Given the description of an element on the screen output the (x, y) to click on. 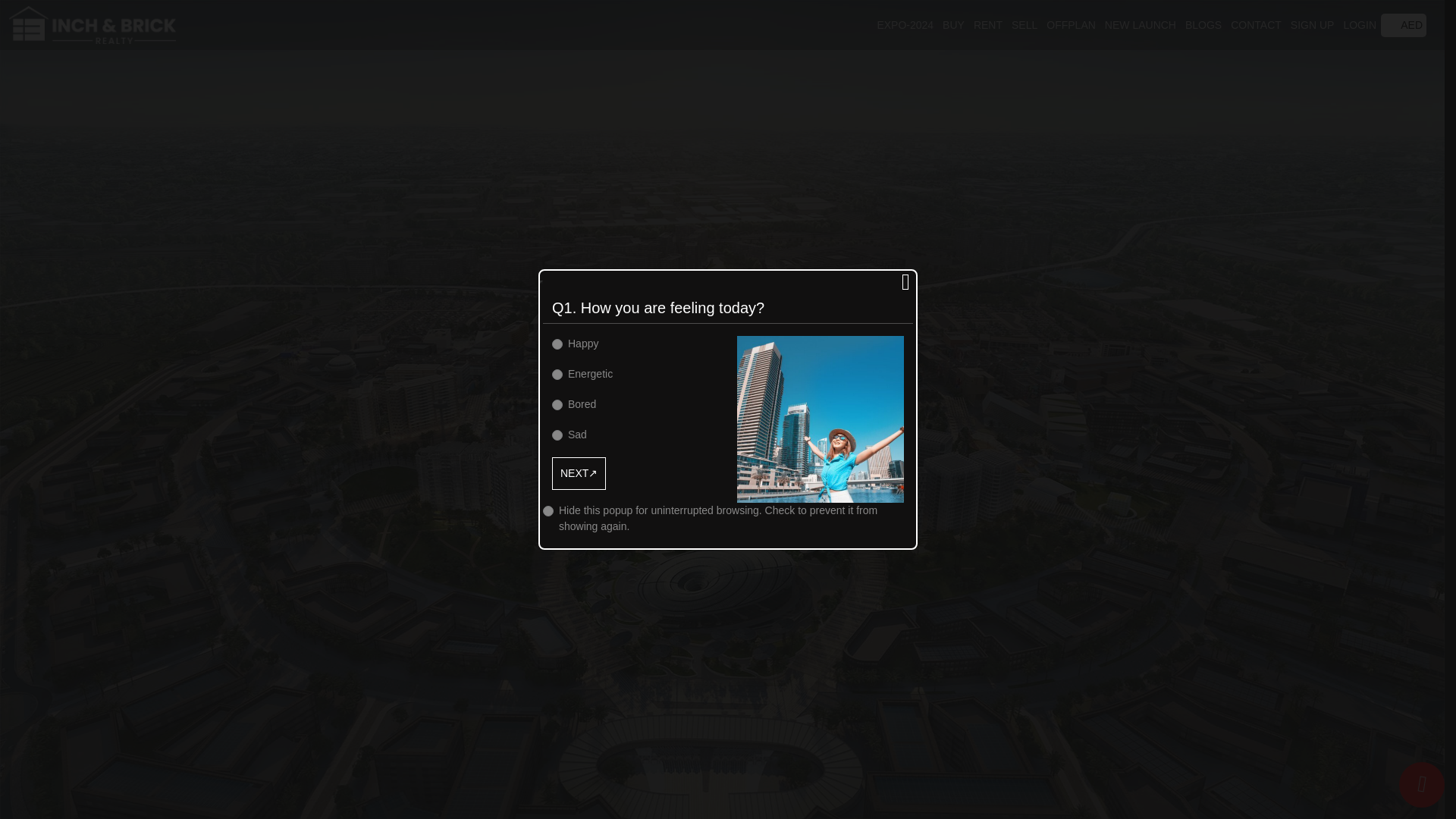
NEW LAUNCH (1140, 24)
BUY (952, 24)
on (556, 343)
Inchbrick Logo (92, 24)
CONTACT (1255, 24)
BLOGS (1203, 24)
LOGIN (1358, 24)
EXPO-2024 (904, 24)
OFFPLAN (1071, 24)
on (556, 373)
How you are feeling today? (820, 418)
RENT (988, 24)
SELL (1023, 24)
on (556, 403)
